Given the description of an element on the screen output the (x, y) to click on. 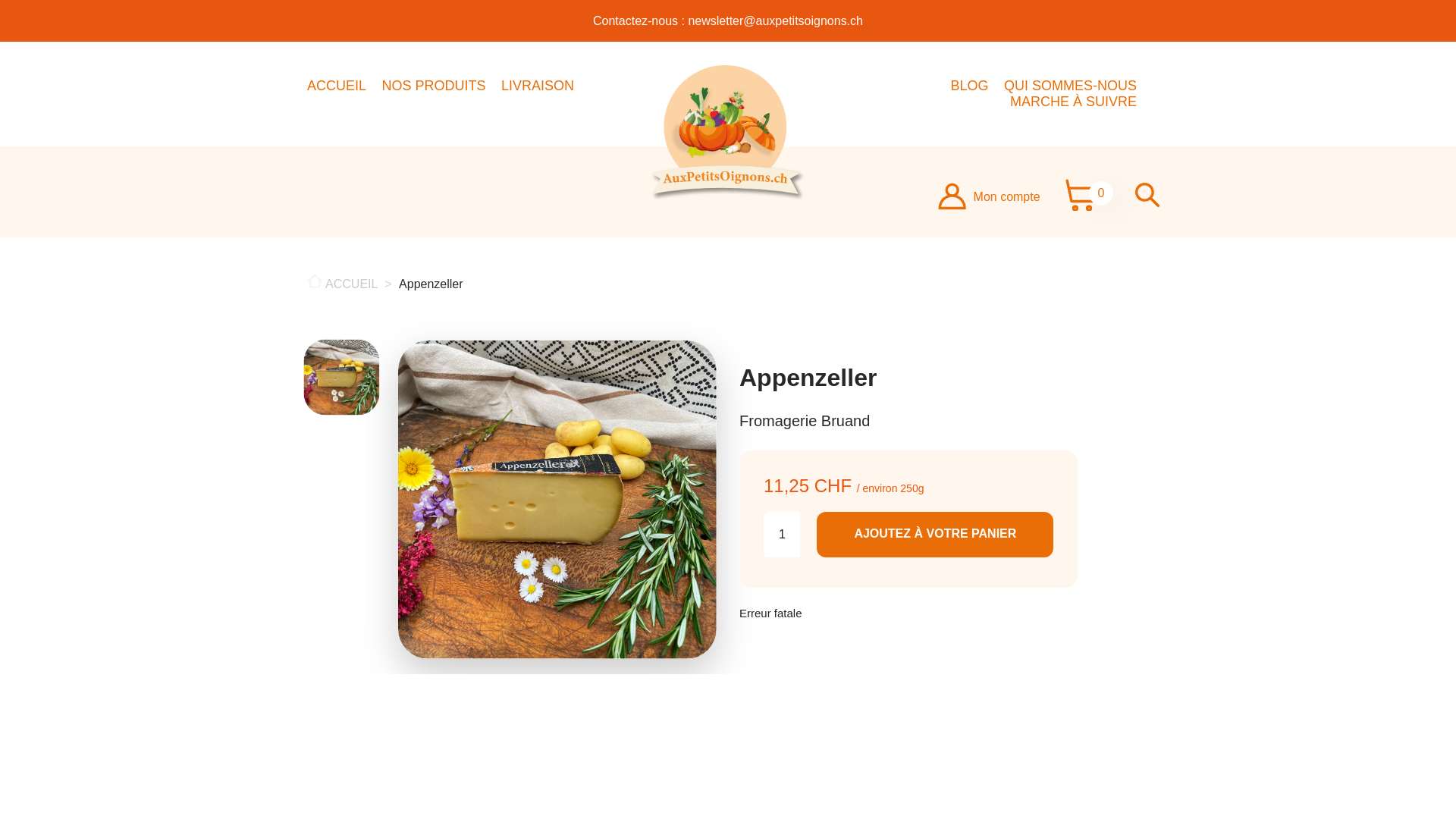
Mon compte Element type: text (988, 196)
QUI SOMMES-NOUS Element type: text (1070, 85)
ACCUEIL Element type: text (336, 85)
ACCUEIL Element type: text (343, 283)
Contactez-nous : newsletter@auxpetitsoignons.ch Element type: text (727, 20)
BLOG Element type: text (969, 85)
LIVRAISON Element type: text (537, 85)
NOS PRODUITS Element type: text (433, 85)
